Given the description of an element on the screen output the (x, y) to click on. 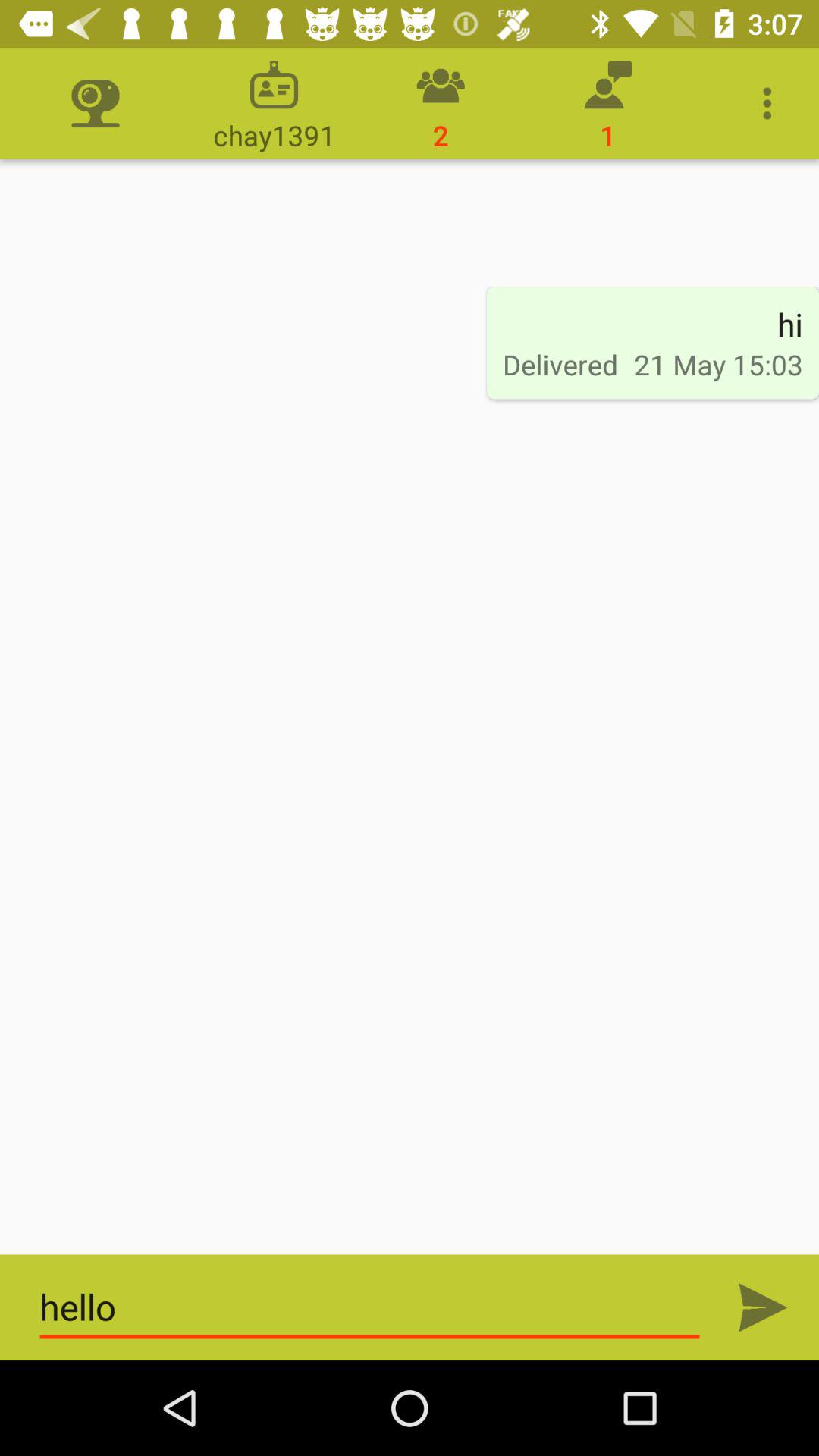
send message (763, 1307)
